Given the description of an element on the screen output the (x, y) to click on. 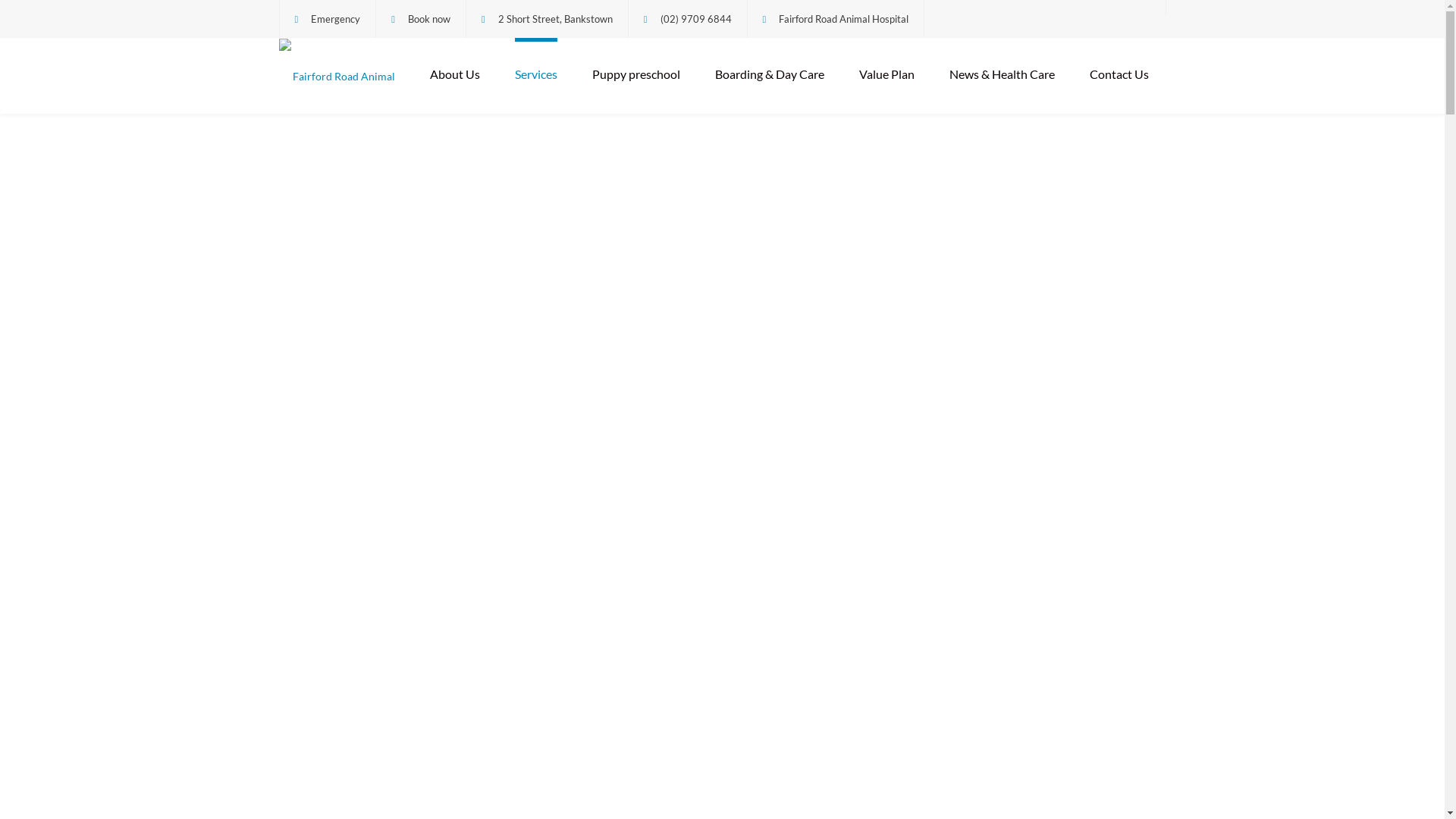
Value Plan Element type: text (885, 75)
Fairford Road Animal Hospital Element type: hover (337, 76)
2 Short Street, Bankstown Element type: text (555, 18)
Puppy preschool Element type: text (635, 75)
Fairford Road Animal Hospital Element type: text (843, 18)
Emergency Element type: text (335, 18)
About Us Element type: text (454, 75)
Boarding & Day Care Element type: text (768, 75)
News & Health Care Element type: text (1001, 75)
Contact Us Element type: text (1118, 75)
Book now Element type: text (428, 18)
(02) 9709 6844 Element type: text (695, 18)
Services Element type: text (535, 75)
